Given the description of an element on the screen output the (x, y) to click on. 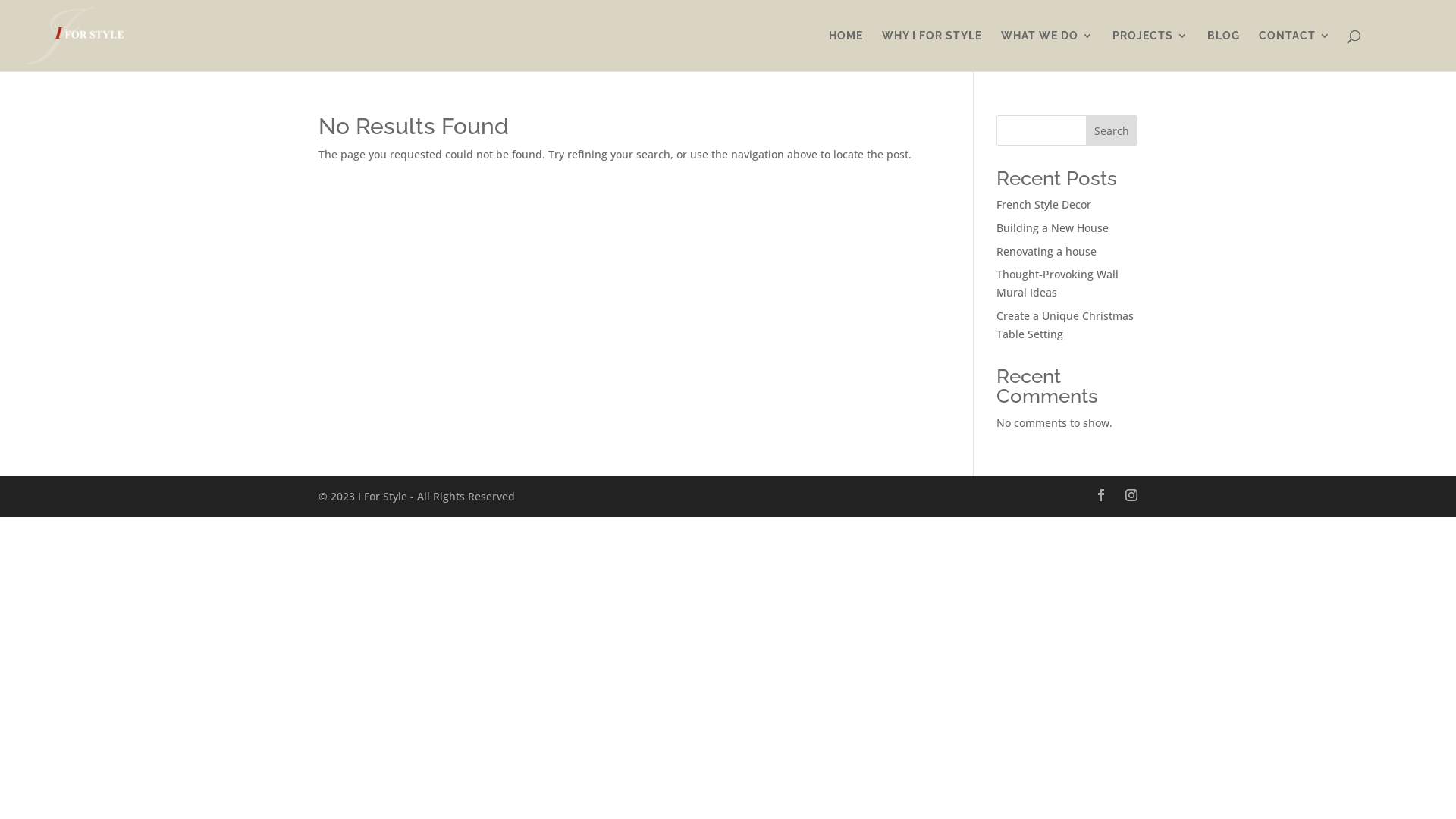
Create a Unique Christmas Table Setting Element type: text (1064, 324)
Thought-Provoking Wall Mural Ideas Element type: text (1057, 282)
Building a New House Element type: text (1052, 227)
WHY I FOR STYLE Element type: text (931, 50)
WHAT WE DO Element type: text (1047, 50)
BLOG Element type: text (1223, 50)
PROJECTS Element type: text (1150, 50)
French Style Decor Element type: text (1043, 204)
Renovating a house Element type: text (1046, 251)
Search Element type: text (1111, 130)
CONTACT Element type: text (1294, 50)
HOME Element type: text (845, 50)
